Given the description of an element on the screen output the (x, y) to click on. 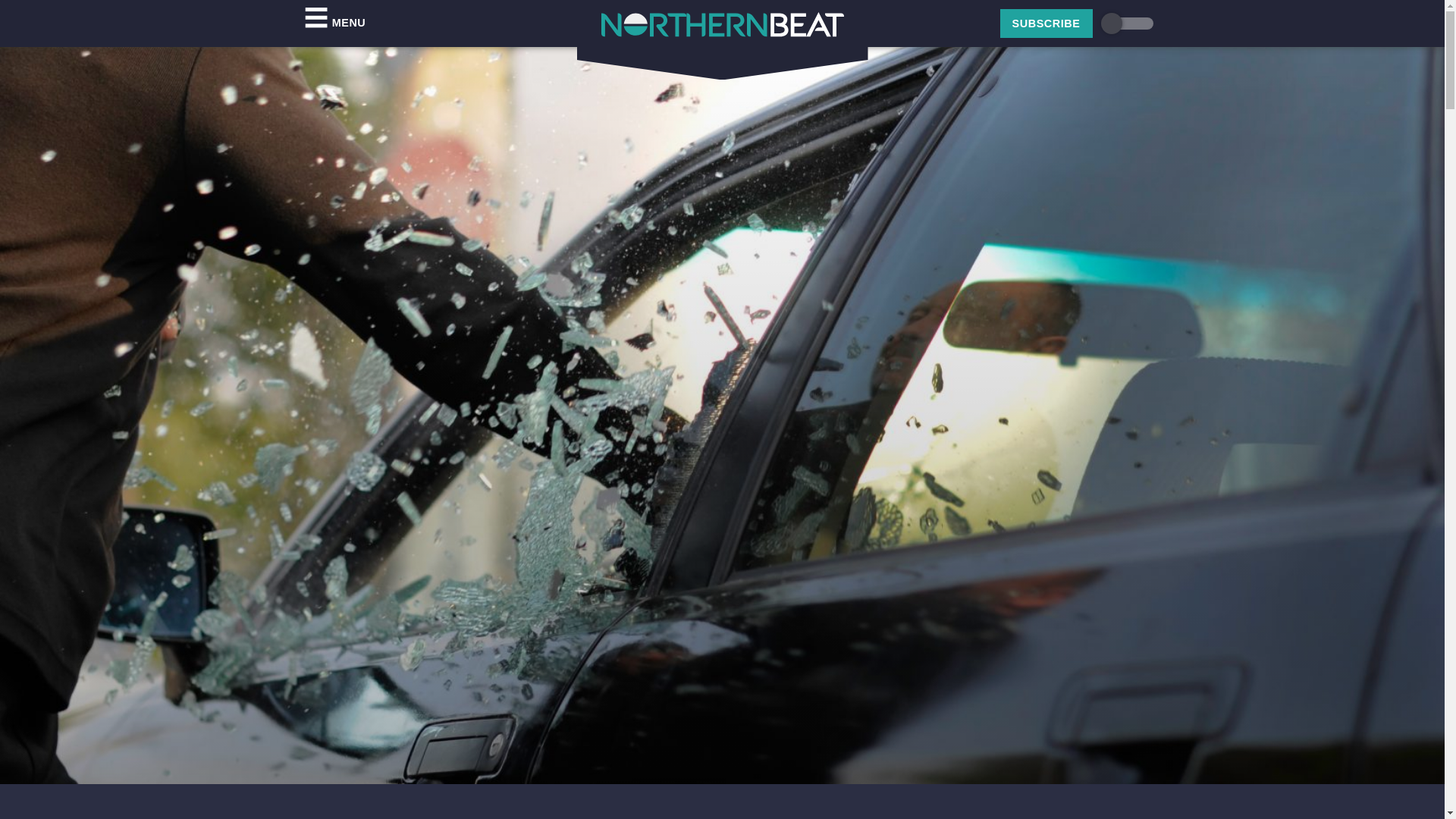
SUBSCRIBE (1046, 23)
